Given the description of an element on the screen output the (x, y) to click on. 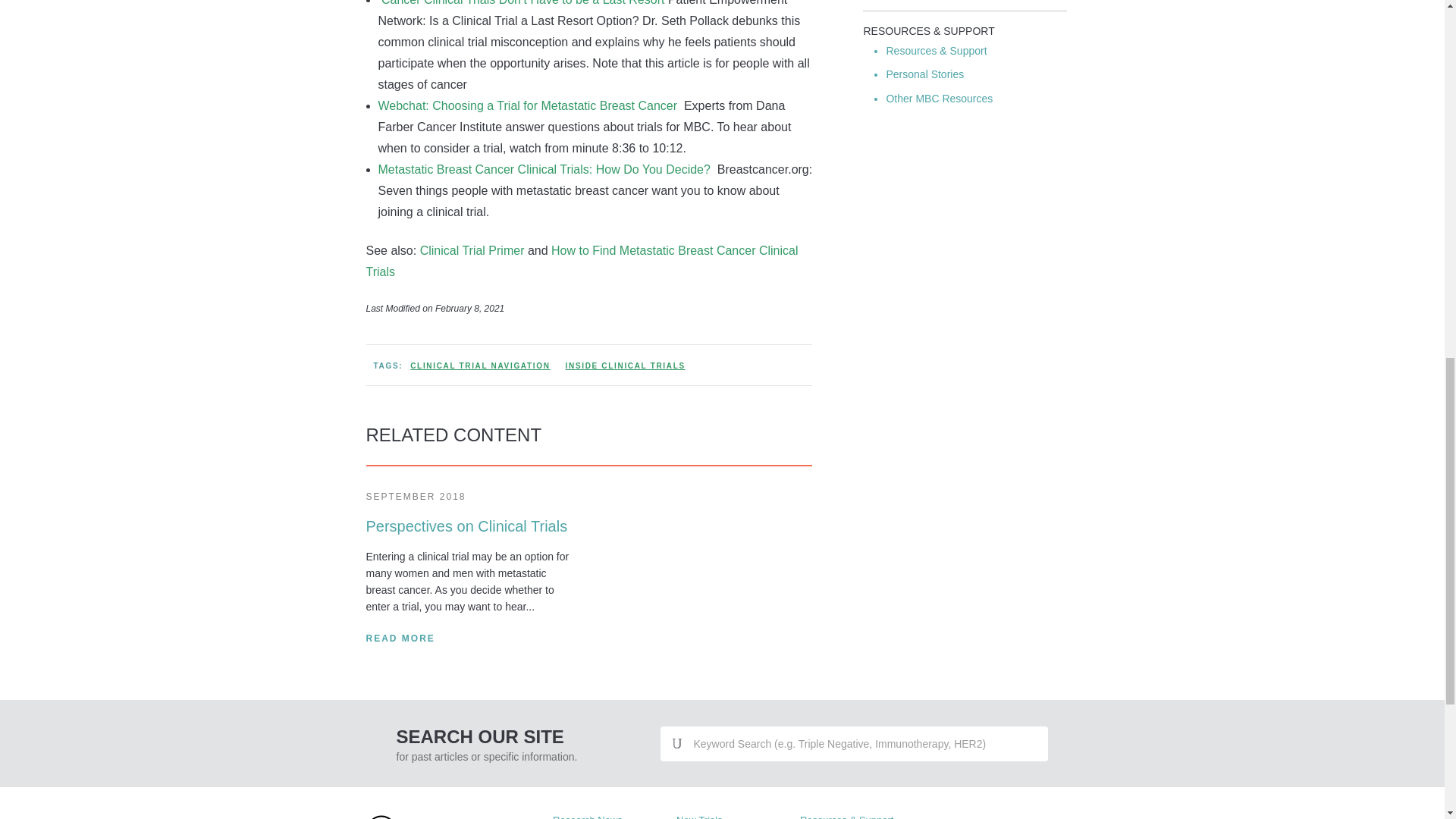
Metastatic Breast Cancer Clinical Trials: How Do You Decide? (545, 169)
INSIDE CLINICAL TRIALS (625, 365)
How to Find Metastatic Breast Cancer Clinical Trials (581, 261)
CLINICAL TRIAL NAVIGATION (480, 365)
Clinical Trial Primer (473, 250)
Perspectives on Clinical Trials (466, 525)
Webchat: Choosing a Trial for Metastatic Breast Cancer  (529, 105)
READ MORE (399, 638)
